Given the description of an element on the screen output the (x, y) to click on. 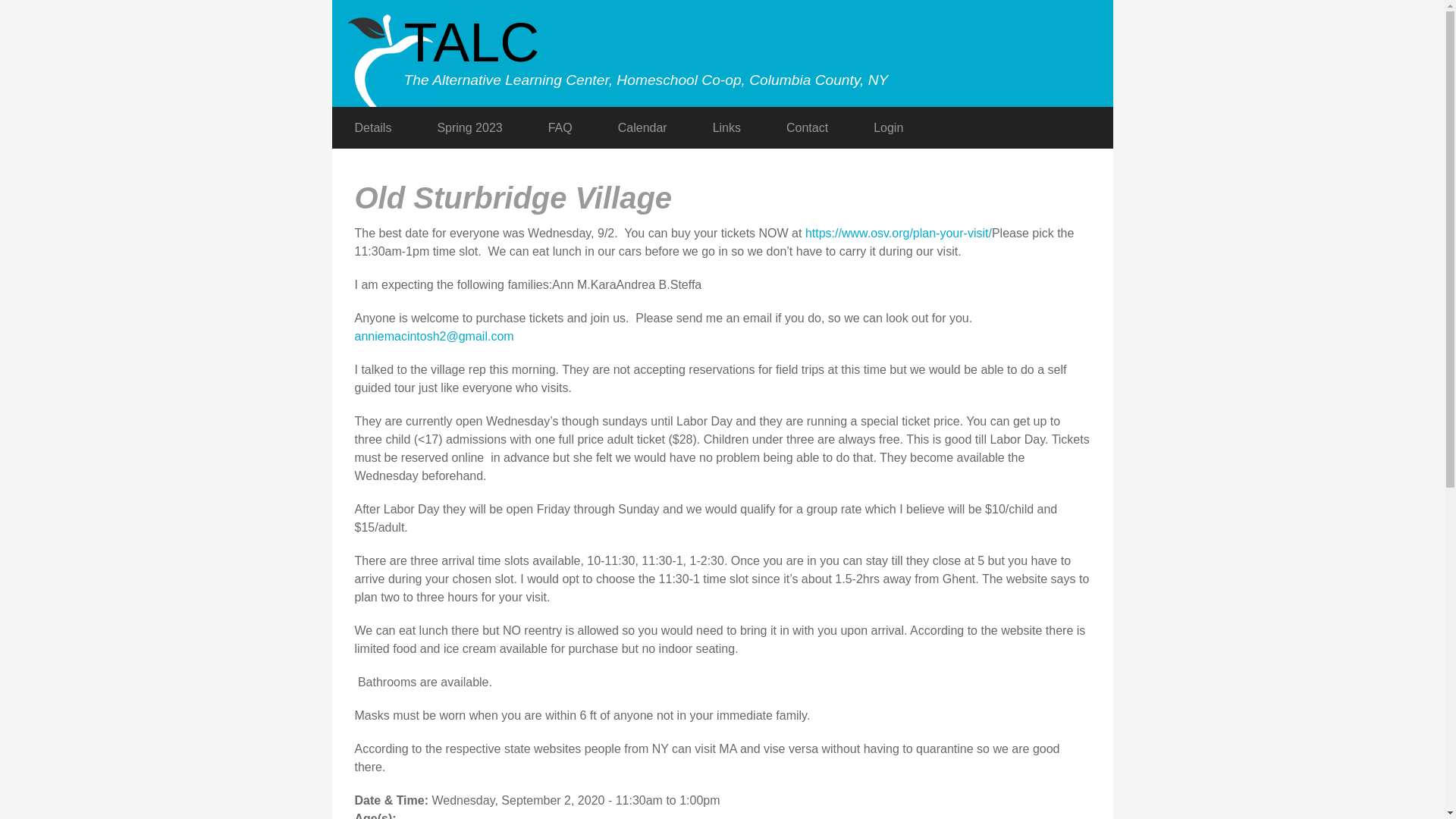
FAQ (560, 127)
TALC (470, 42)
Spring 2023 (468, 127)
Home (470, 42)
Links (726, 127)
Details (372, 127)
Contact (806, 127)
Login (888, 127)
Calendar (642, 127)
